Given the description of an element on the screen output the (x, y) to click on. 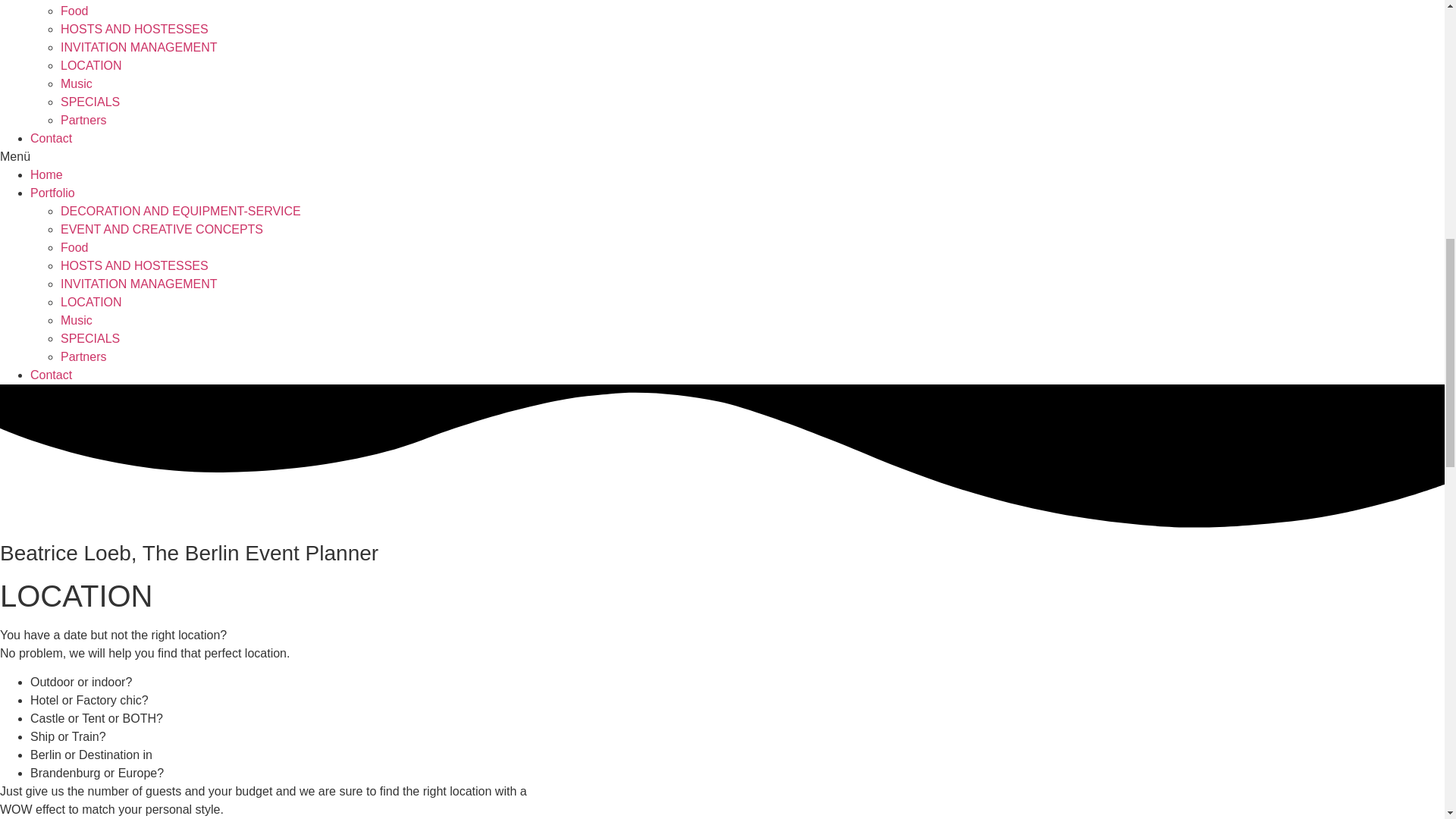
Music (77, 319)
LOCATION (91, 301)
DECORATION AND EQUIPMENT-SERVICE (181, 210)
Music (77, 83)
LOCATION (91, 65)
HOSTS AND HOSTESSES (134, 29)
INVITATION MANAGEMENT (138, 47)
Home (46, 174)
Food (74, 10)
Contact (50, 374)
